Given the description of an element on the screen output the (x, y) to click on. 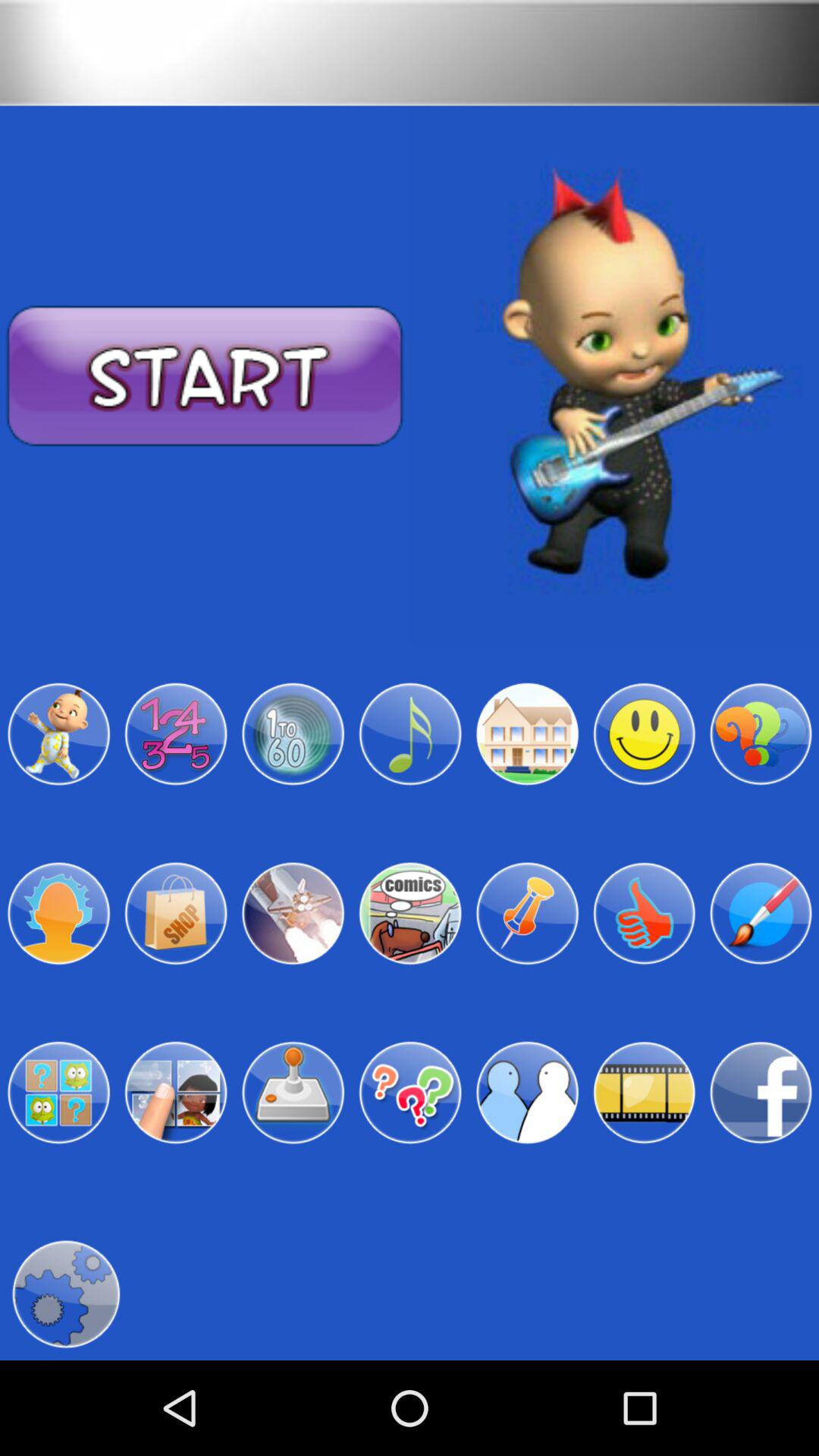
show videos of the baby (643, 1092)
